Given the description of an element on the screen output the (x, y) to click on. 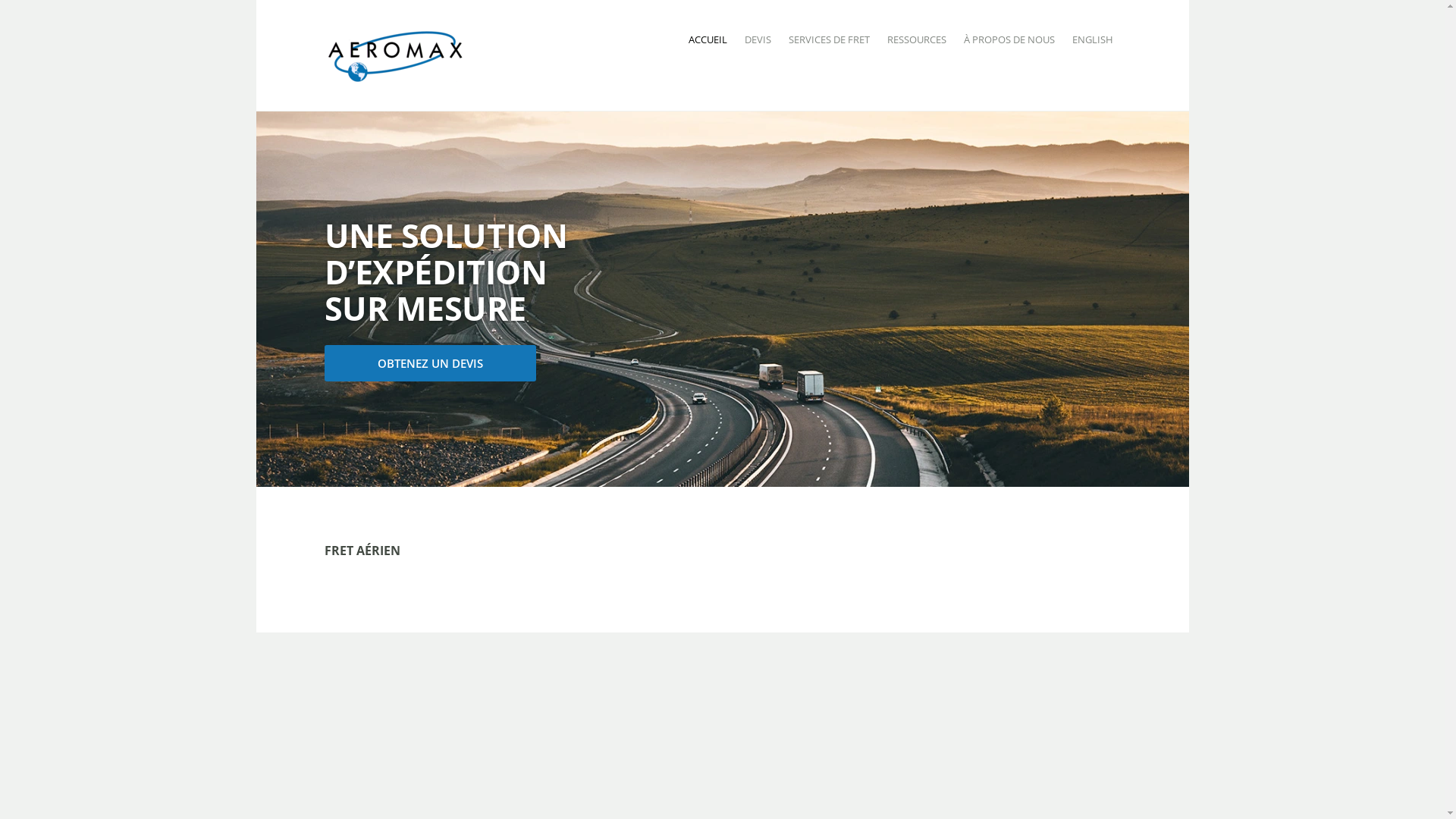
SERVICES DE FRET Element type: text (829, 39)
DEVIS Element type: text (757, 39)
Logistique Aeromax Inc. Element type: text (419, 92)
ACCUEIL Element type: text (707, 39)
OBTENEZ UN DEVIS Element type: text (430, 362)
Logistique Aeromax Inc. Element type: hover (394, 53)
RESSOURCES Element type: text (916, 39)
ENGLISH Element type: text (1092, 39)
